Given the description of an element on the screen output the (x, y) to click on. 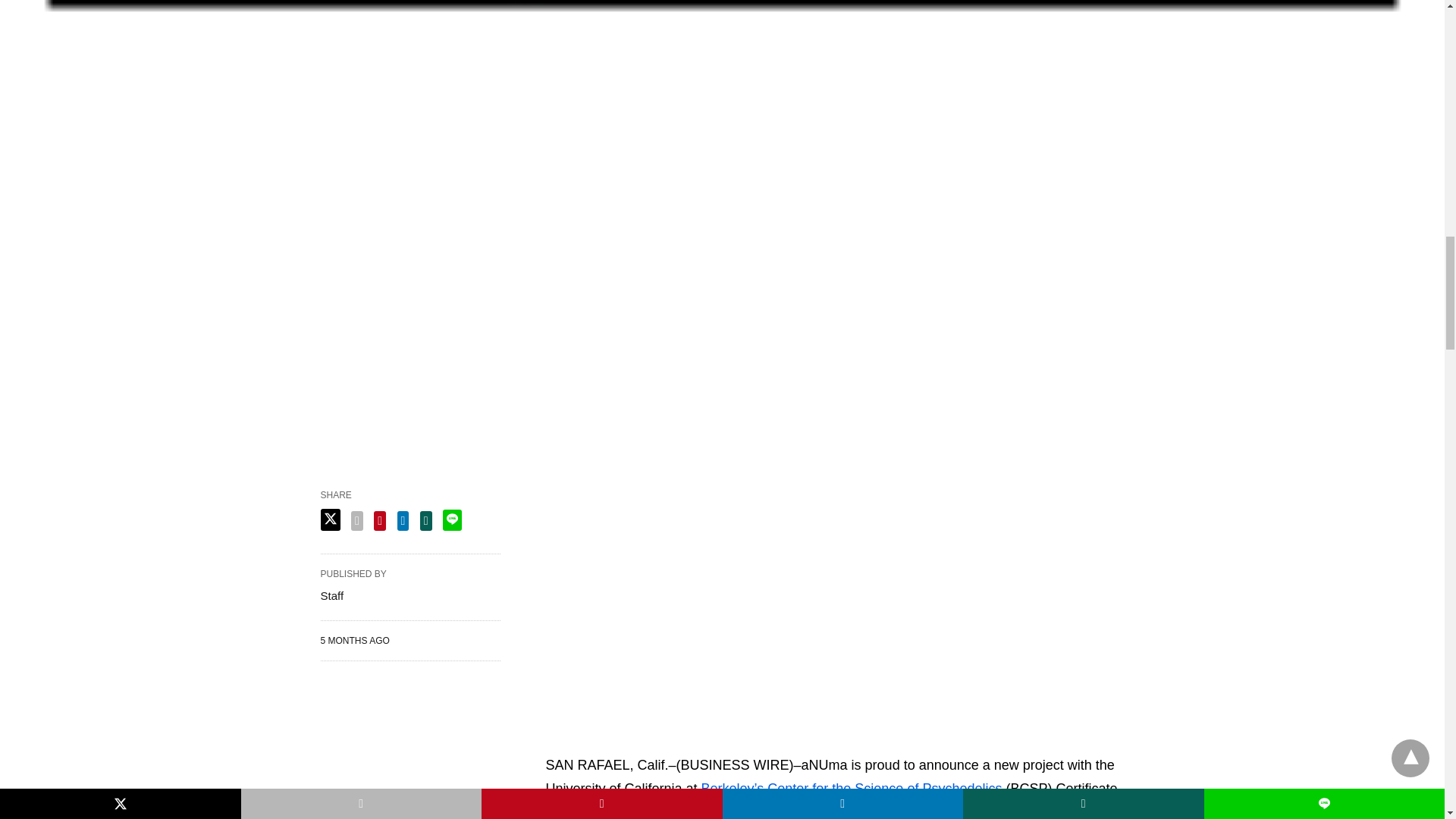
Gmail (678, 742)
WhatsApp (630, 742)
LinkedIn (727, 742)
3rd party ad content (834, 603)
Facebook (558, 742)
Email (606, 742)
Reddit (703, 742)
Flipboard (654, 742)
Messenger (751, 742)
Twitter (582, 742)
